Given the description of an element on the screen output the (x, y) to click on. 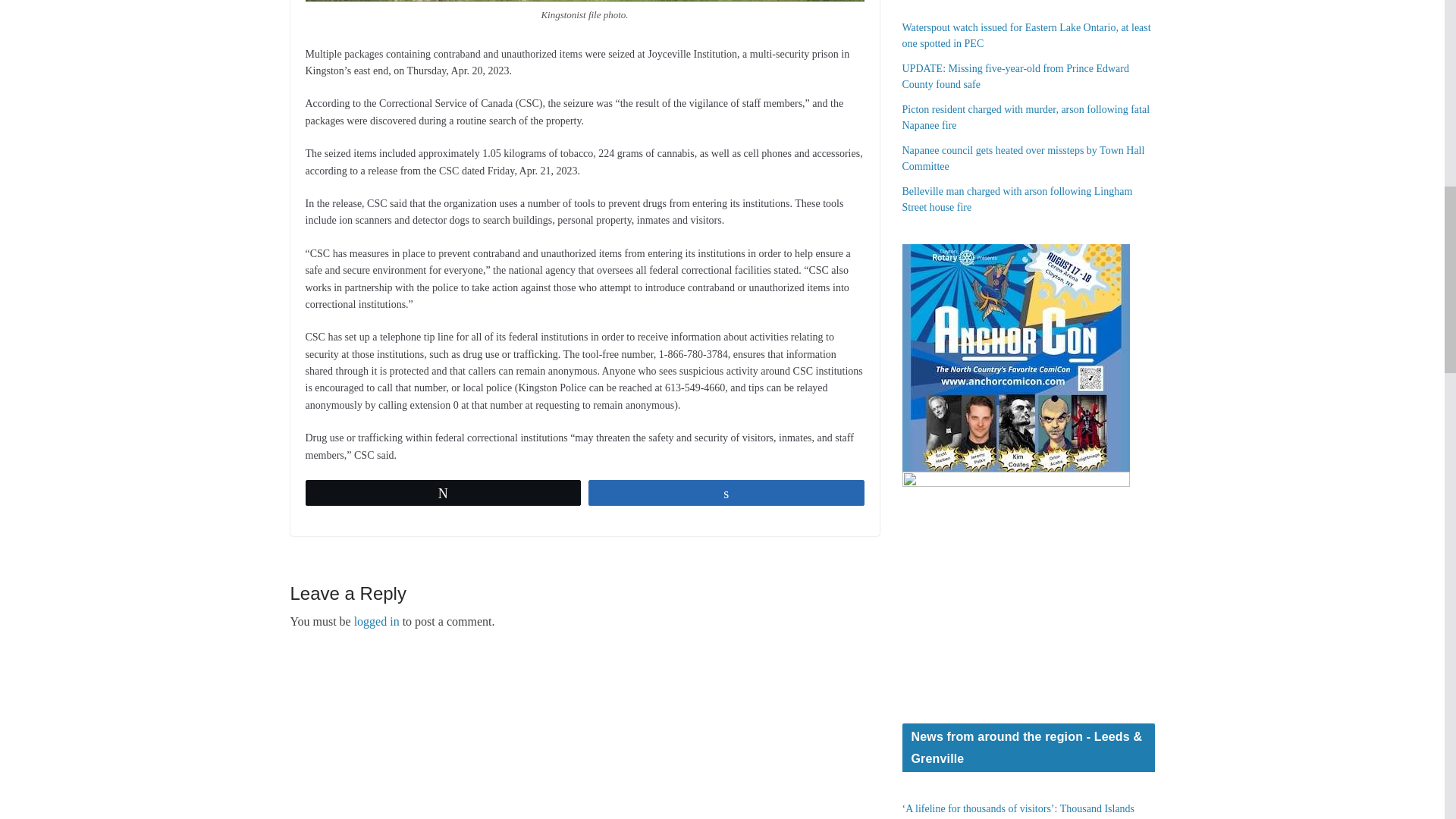
logged in (375, 621)
